Given the description of an element on the screen output the (x, y) to click on. 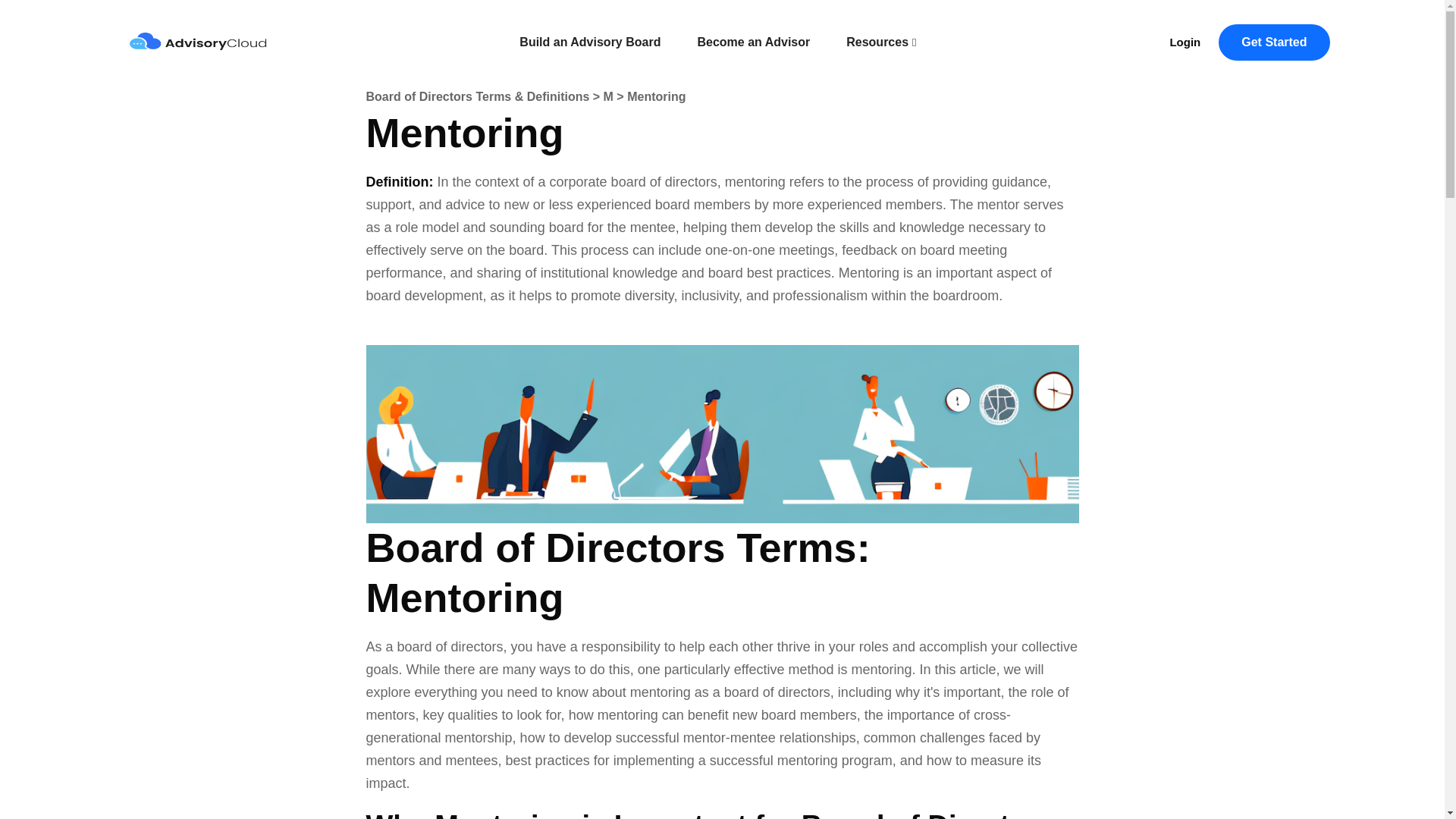
Become an Advisor (753, 42)
Login (1184, 42)
Get Started (1273, 42)
Build an Advisory Board (590, 42)
